Given the description of an element on the screen output the (x, y) to click on. 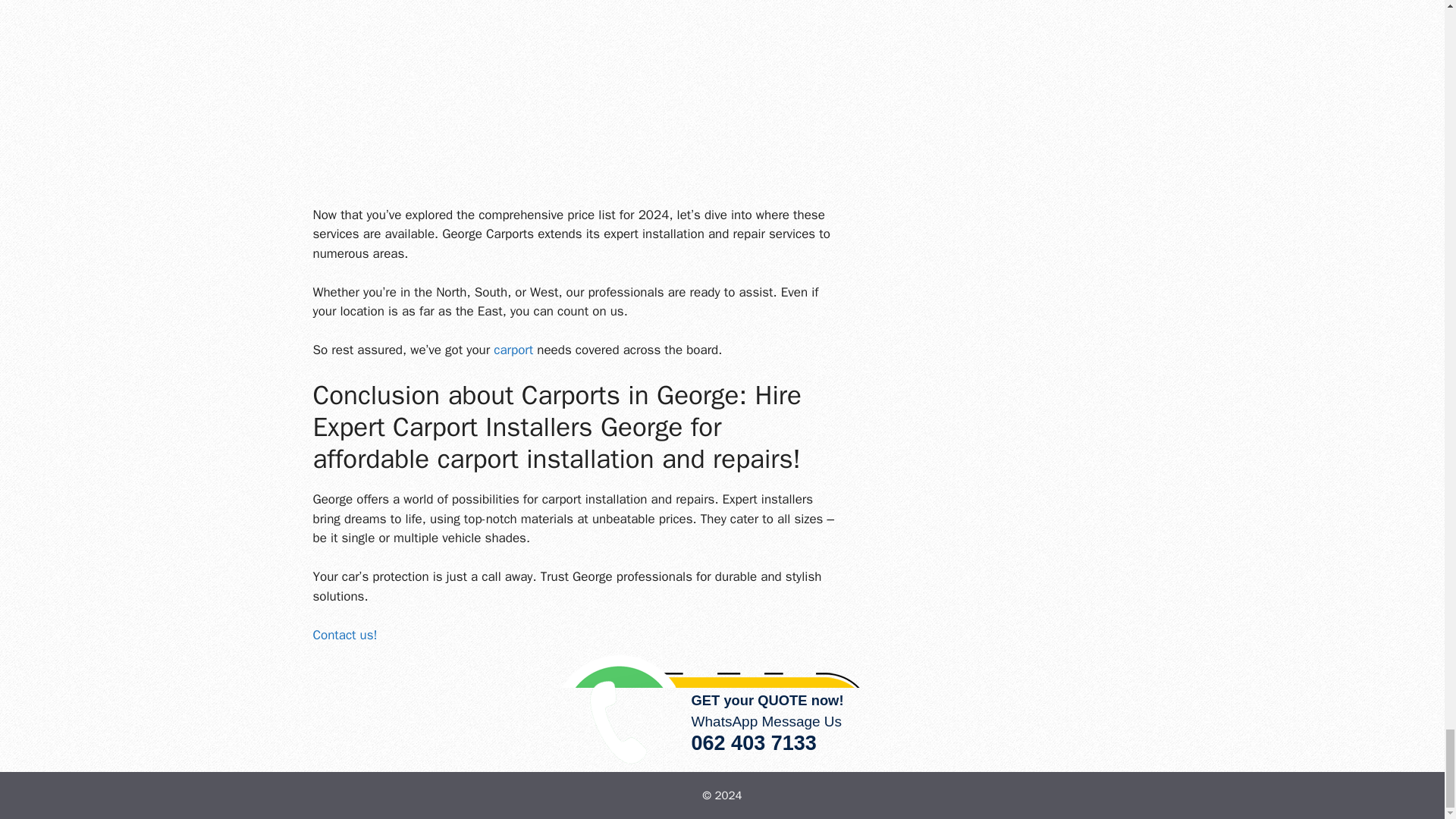
Contact us! (345, 634)
carport (512, 349)
